Given the description of an element on the screen output the (x, y) to click on. 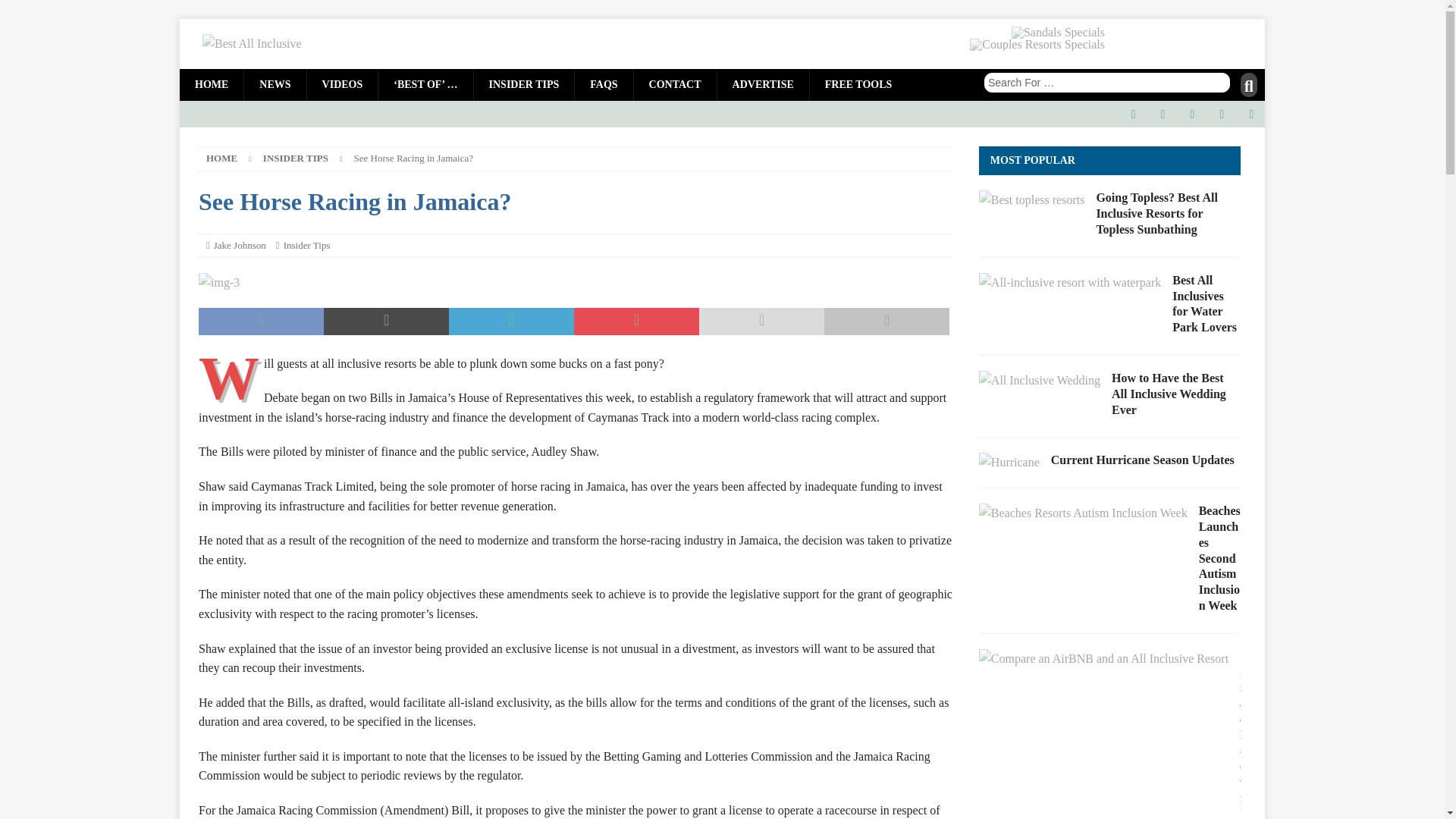
NEWS (274, 84)
Print this article (886, 320)
Home (221, 157)
FAQS (602, 84)
Insider Tips (306, 244)
FREE TOOLS (858, 84)
Share on Facebook (260, 320)
VIDEOS (341, 84)
